Given the description of an element on the screen output the (x, y) to click on. 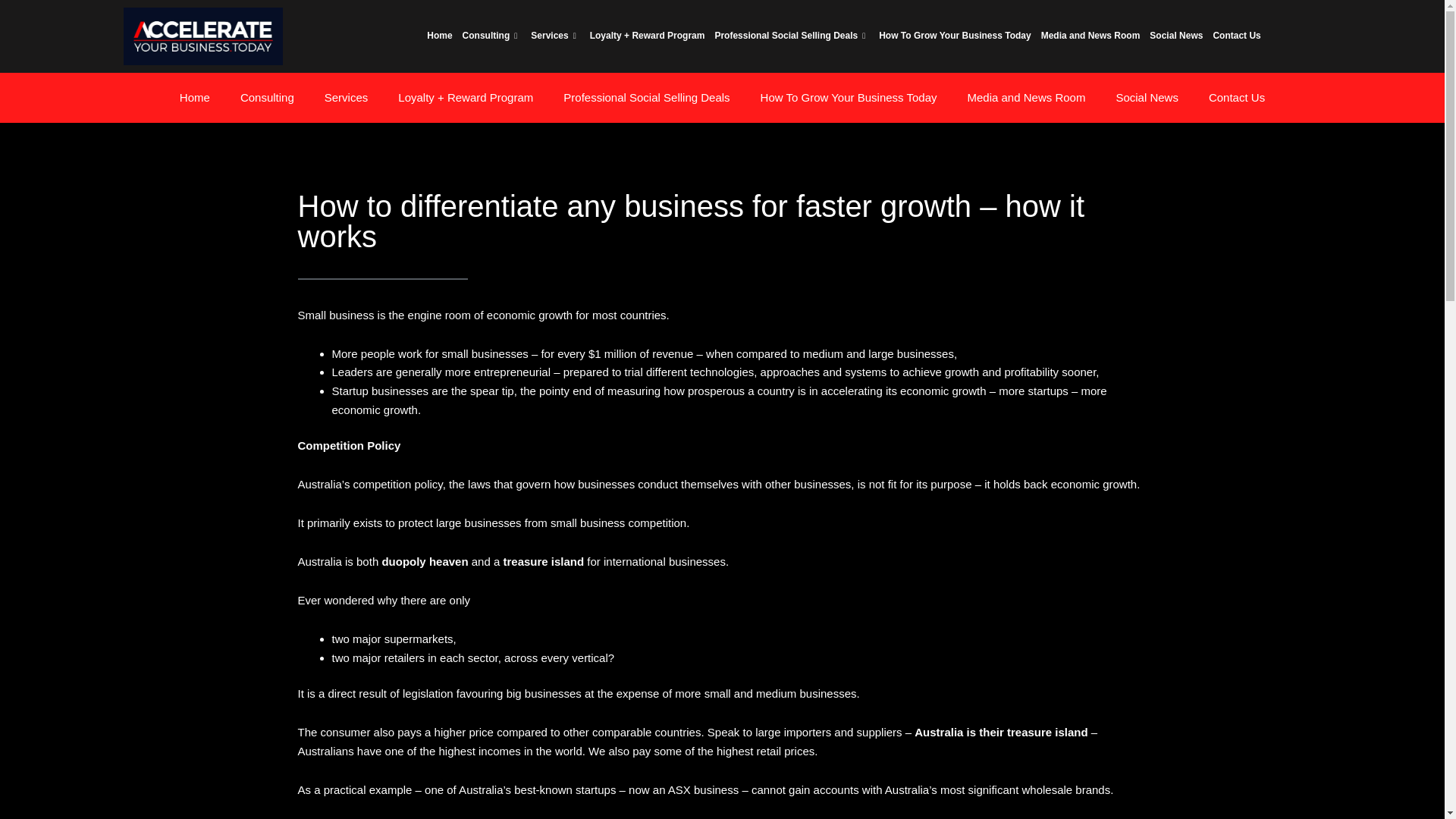
Professional Social Selling Deals (791, 36)
Consulting (266, 97)
Services (554, 36)
Media and News Room (1089, 36)
Social News (1175, 36)
Consulting (491, 36)
How To Grow Your Business Today (954, 36)
Contact Us (1236, 36)
Home (194, 97)
